Given the description of an element on the screen output the (x, y) to click on. 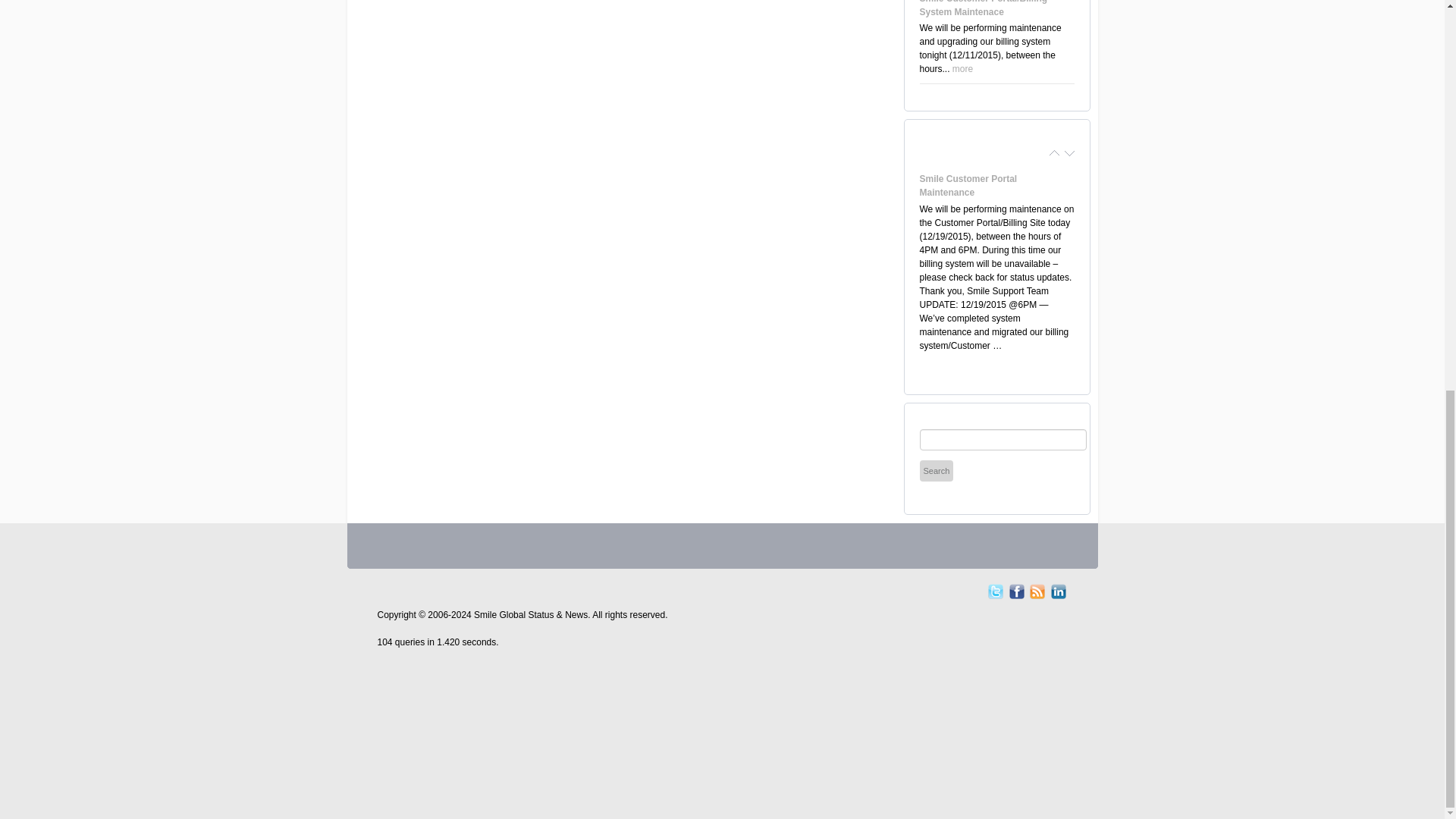
more (962, 68)
Search (935, 470)
Prev (1054, 152)
Search (935, 470)
Smile Customer Portal Maintenance (967, 185)
Next (1069, 152)
